Given the description of an element on the screen output the (x, y) to click on. 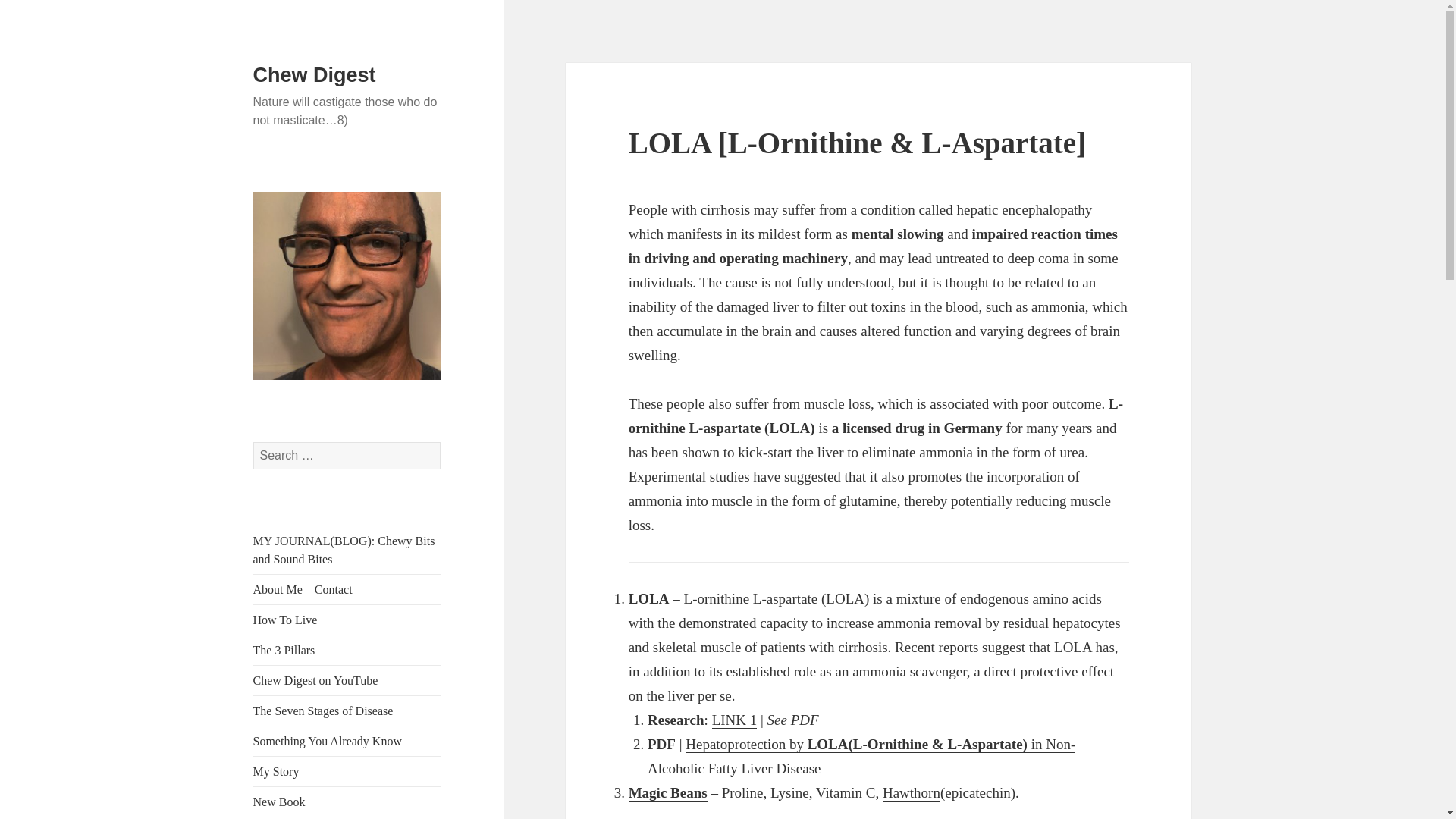
Something You Already Know (327, 740)
The 3 Pillars (284, 649)
Chew Digest (314, 74)
My Story (276, 771)
Chew Digest on YouTube (315, 680)
The Seven Stages of Disease (323, 710)
How To Live (285, 619)
New Book (279, 801)
